Given the description of an element on the screen output the (x, y) to click on. 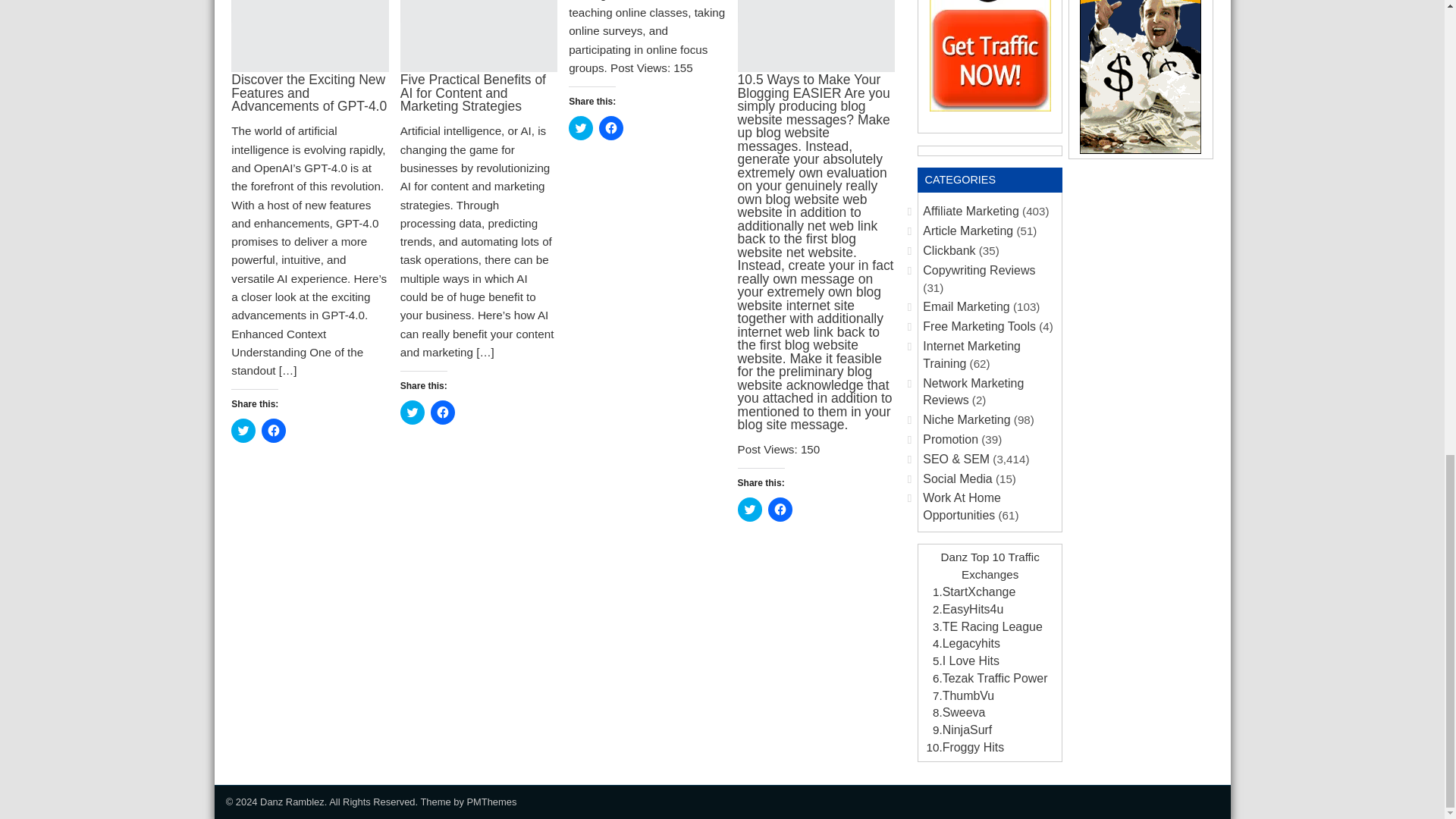
PMThemes WordPress Theme (490, 801)
Click to share on Twitter (749, 509)
Network Marketing Reviews (973, 391)
Internet Marketing Training (971, 354)
Niche Marketing (966, 419)
Affiliate Marketing (971, 210)
Click to share on Twitter (243, 430)
Article Marketing (968, 230)
Email Marketing (966, 306)
Promotion (950, 439)
Click to share on Facebook (273, 430)
Click to share on Twitter (412, 412)
Click to share on Twitter (580, 128)
Copywriting Reviews (979, 269)
